Given the description of an element on the screen output the (x, y) to click on. 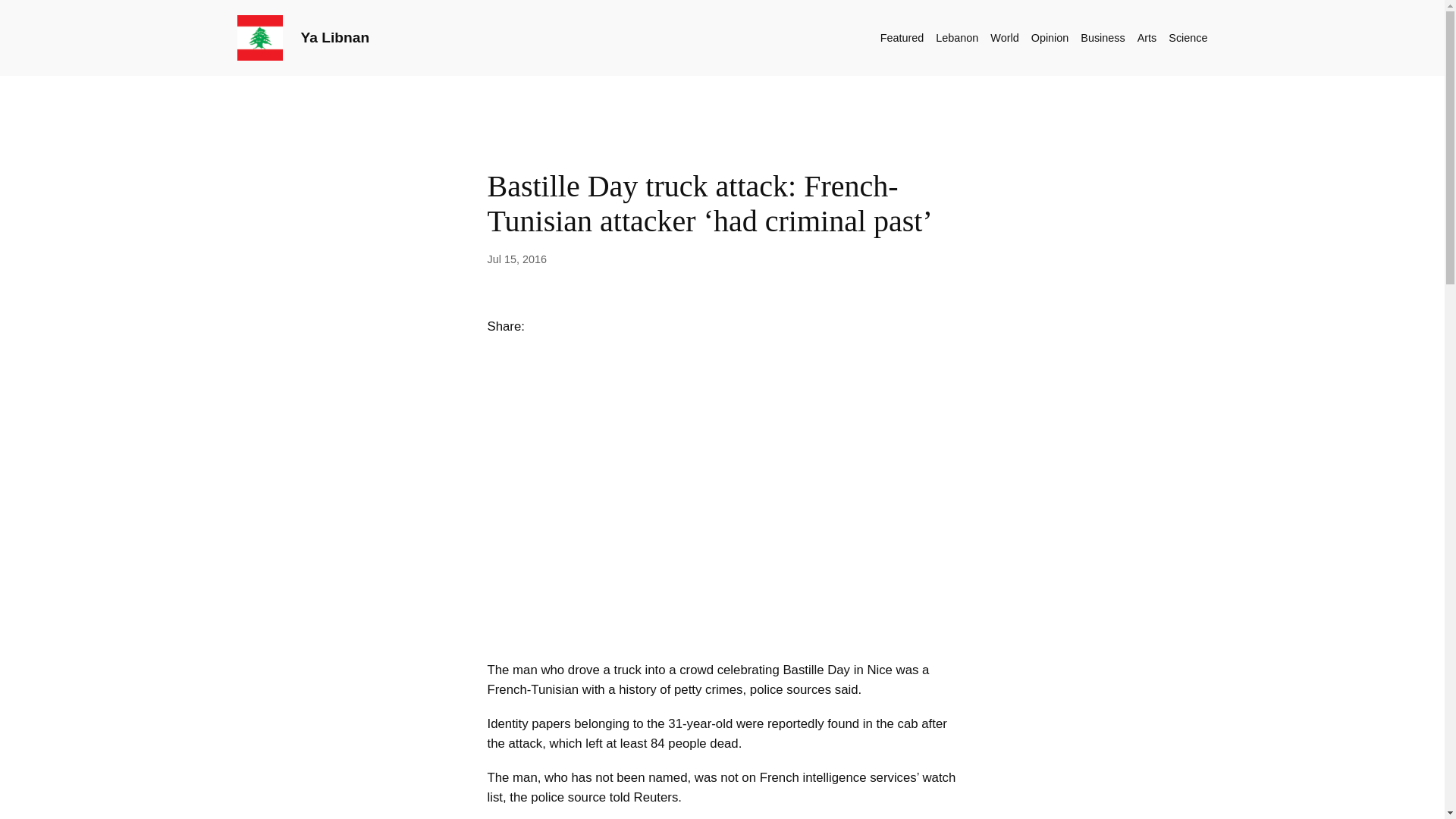
Lebanon (957, 37)
Arts (1147, 37)
World (1003, 37)
Science (1188, 37)
Ya Libnan (334, 37)
Featured (902, 37)
Opinion (1049, 37)
Business (1102, 37)
Jul 15, 2016 (516, 259)
